Given the description of an element on the screen output the (x, y) to click on. 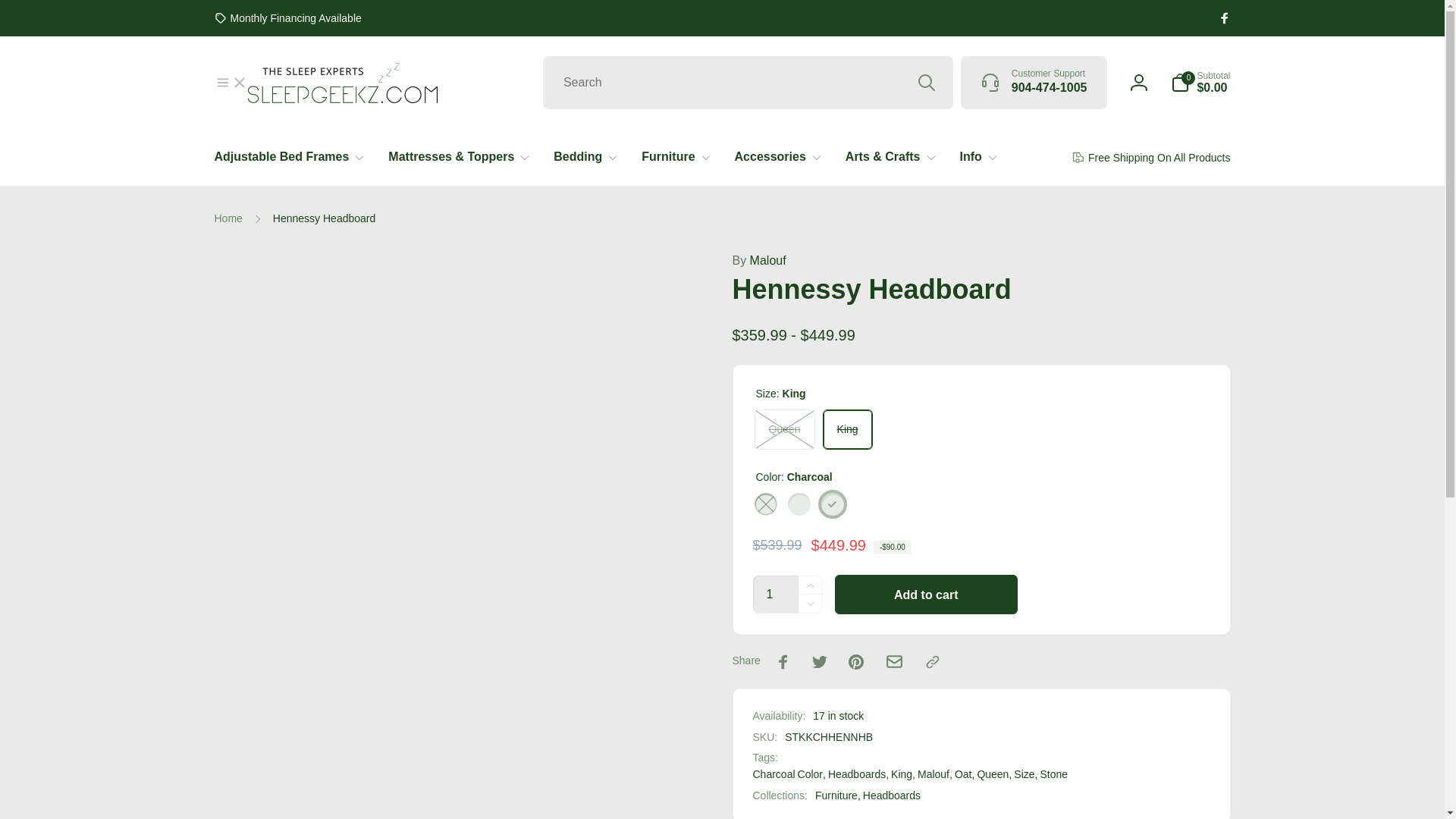
Show products matching tag Headboards (856, 773)
Show products matching tag Size (1023, 773)
Facebook (1223, 18)
1 (774, 594)
Show products matching tag Malouf (933, 773)
Show products matching tag King (901, 773)
Show products matching tag Color (809, 773)
Skip to content (23, 9)
Furniture (837, 795)
Show products matching tag Stone (1053, 773)
Show products matching tag Queen (992, 773)
